Given the description of an element on the screen output the (x, y) to click on. 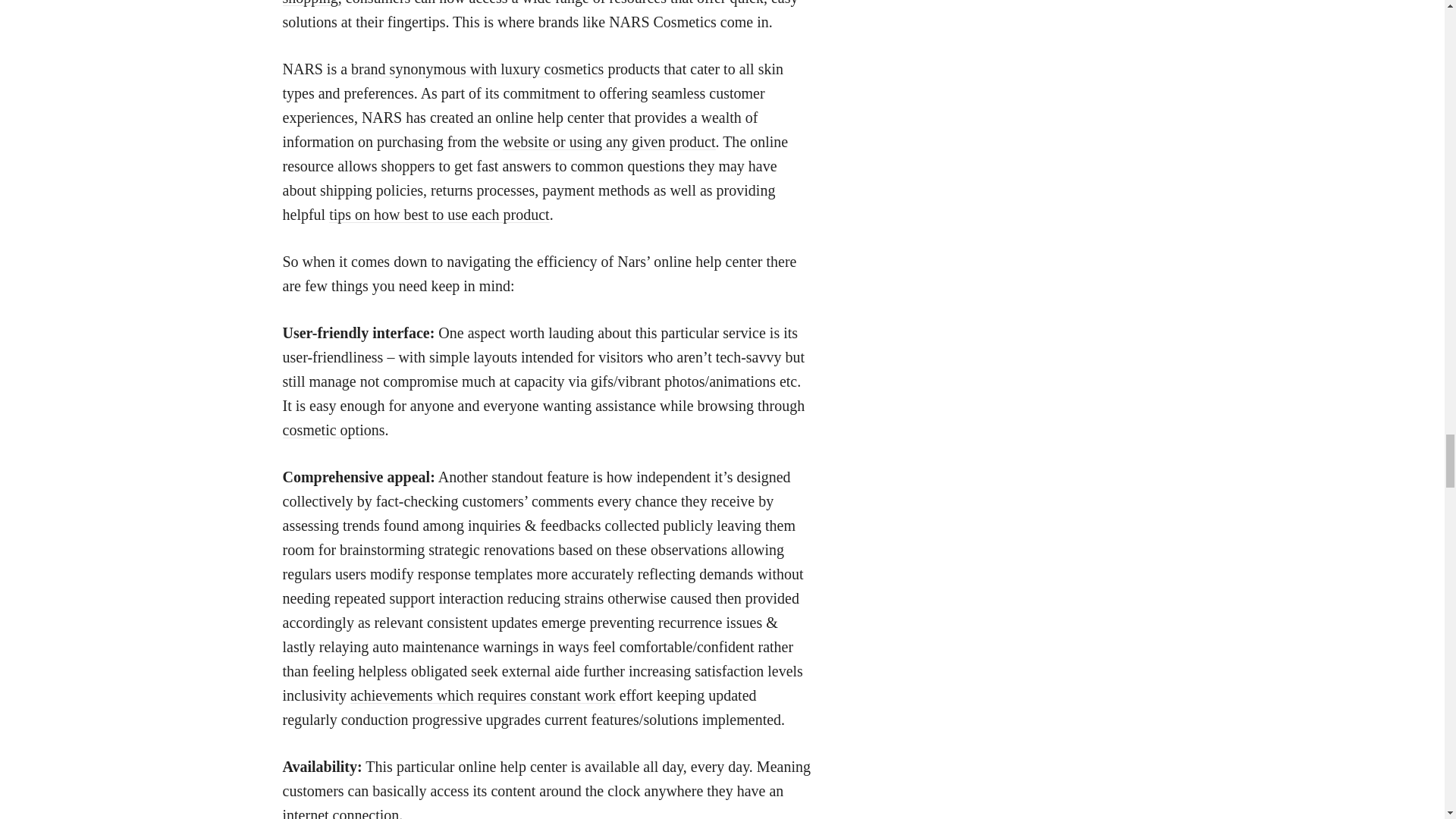
website or using any given product (609, 141)
tips on how best to use each product (439, 214)
cosmetic options (333, 429)
online shopping, (523, 2)
achievements which requires constant work (482, 695)
brand synonymous with luxury cosmetics (477, 68)
